Given the description of an element on the screen output the (x, y) to click on. 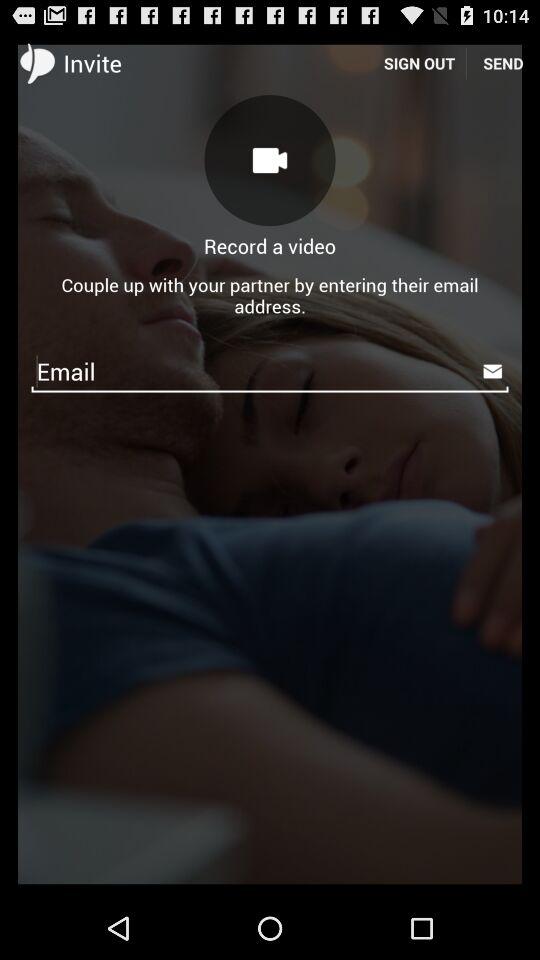
press sign out icon (419, 62)
